Given the description of an element on the screen output the (x, y) to click on. 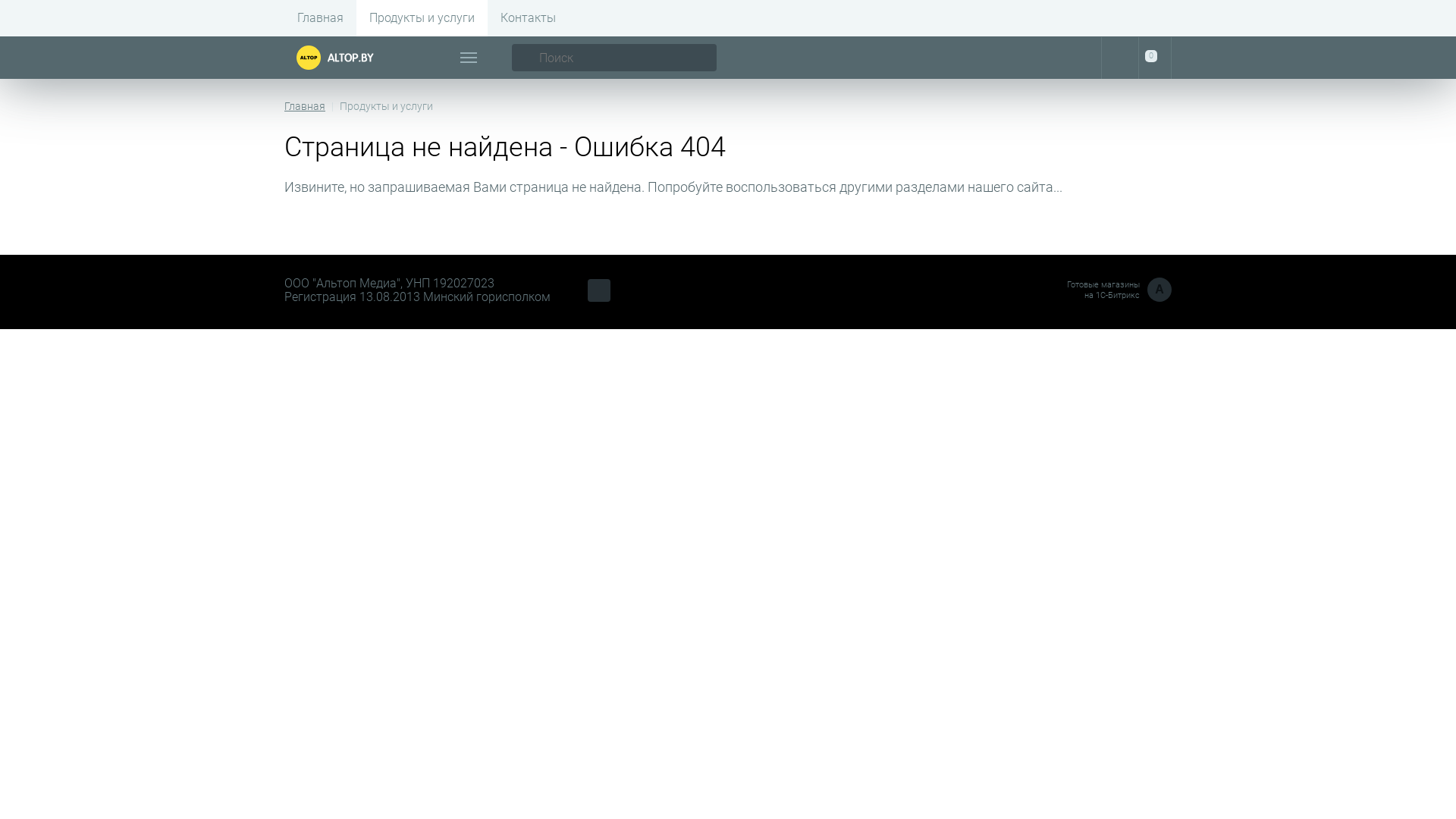
0 Element type: text (1154, 57)
Youtube ALTOP Element type: hover (598, 290)
